Given the description of an element on the screen output the (x, y) to click on. 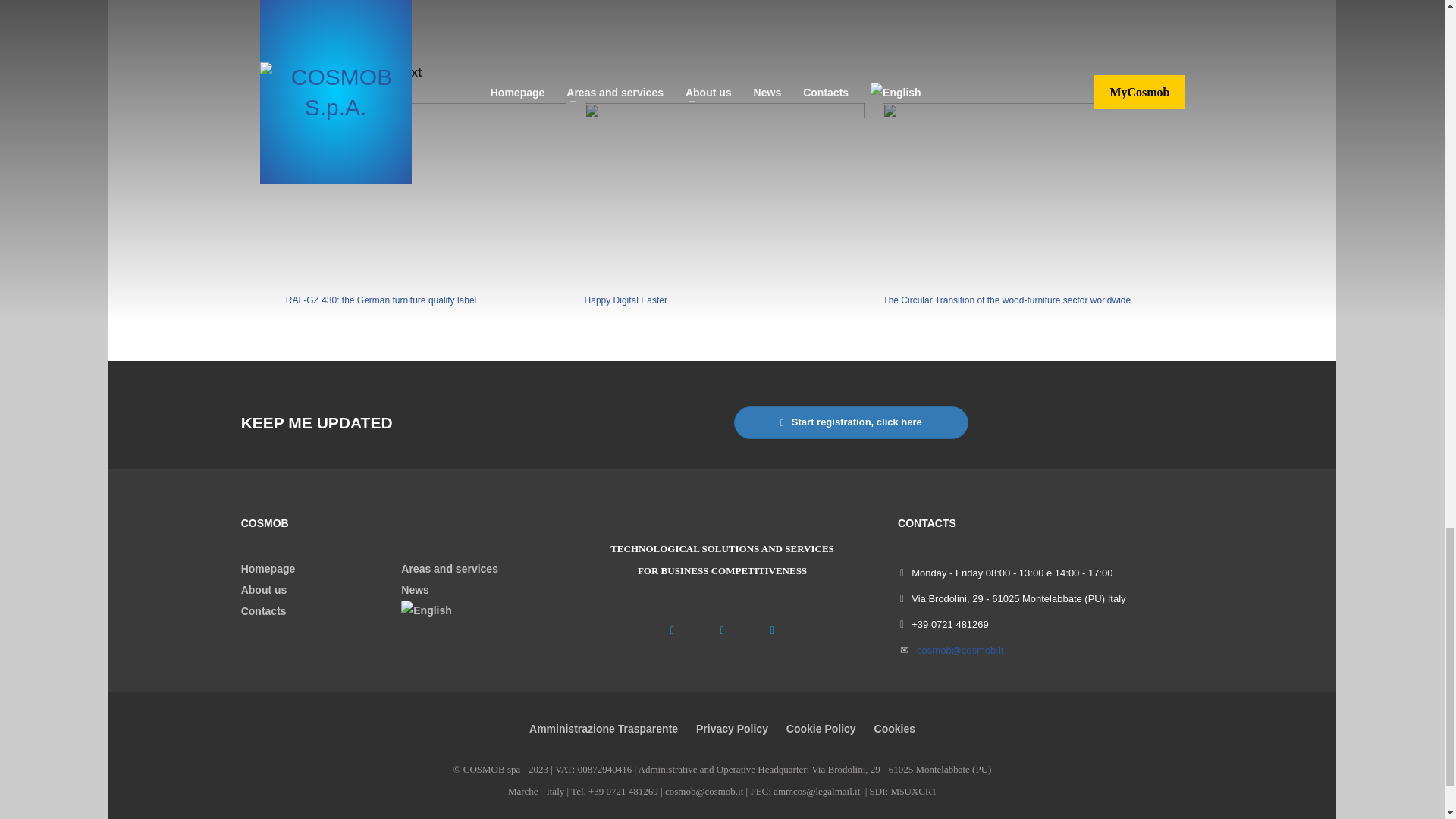
SHARE ON PINTEREST (376, 15)
SHARE ON MAIL (393, 589)
SHARE ON GPLUS (402, 15)
SHARE ON FACEBOOK (350, 15)
RAL 430 Mobile tedesco (323, 15)
SHARE ON TWITTER (425, 194)
Click me (296, 15)
WhatsApp Image 2021-04-01 at 13.06.37 (851, 422)
